Given the description of an element on the screen output the (x, y) to click on. 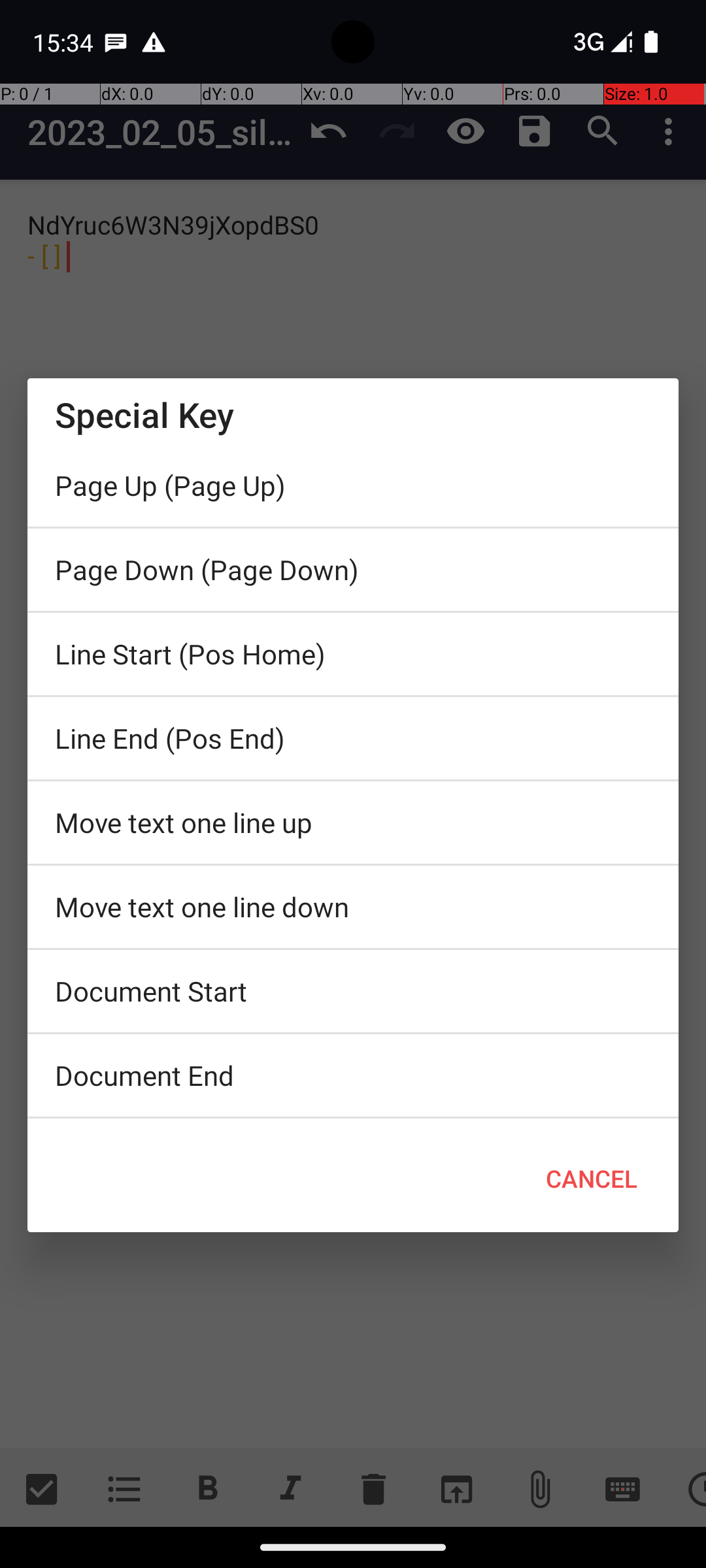
Page Up (Page Up) Element type: android.widget.TextView (352, 485)
Page Down (Page Down) Element type: android.widget.TextView (352, 569)
Line Start (Pos Home) Element type: android.widget.TextView (352, 653)
Line End (Pos End) Element type: android.widget.TextView (352, 738)
Move text one line up Element type: android.widget.TextView (352, 822)
Move text one line down Element type: android.widget.TextView (352, 906)
Document Start Element type: android.widget.TextView (352, 990)
Document End Element type: android.widget.TextView (352, 1075)
Select all (Ctrl+A) Element type: android.widget.TextView (352, 1121)
